Given the description of an element on the screen output the (x, y) to click on. 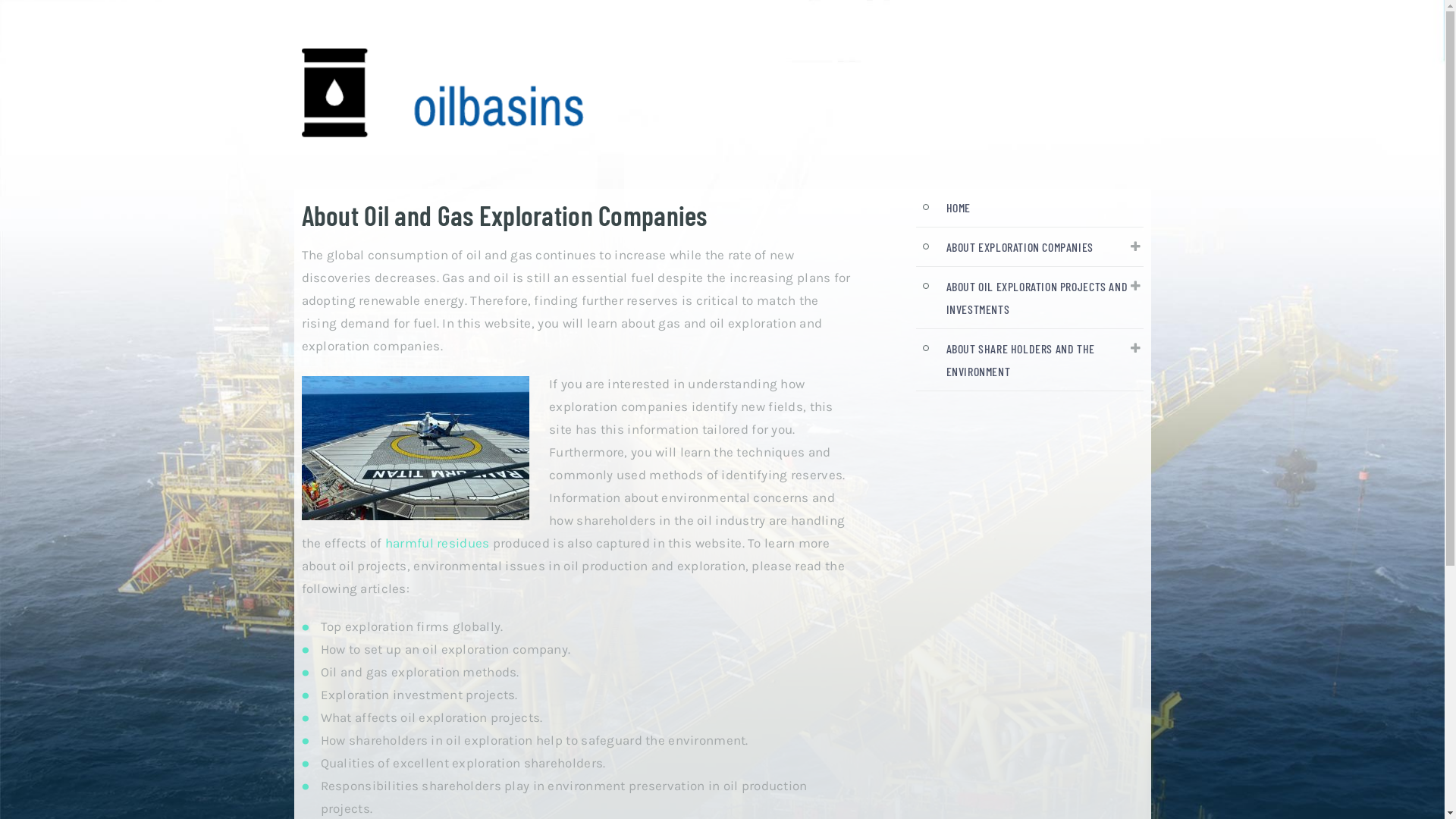
ABOUT OIL EXPLORATION PROJECTS AND INVESTMENTS Element type: text (1037, 297)
harmful residues Element type: text (437, 542)
HOME Element type: text (958, 207)
ABOUT SHARE HOLDERS AND THE ENVIRONMENT Element type: text (1020, 359)
ABOUT EXPLORATION COMPANIES Element type: text (1019, 246)
